Given the description of an element on the screen output the (x, y) to click on. 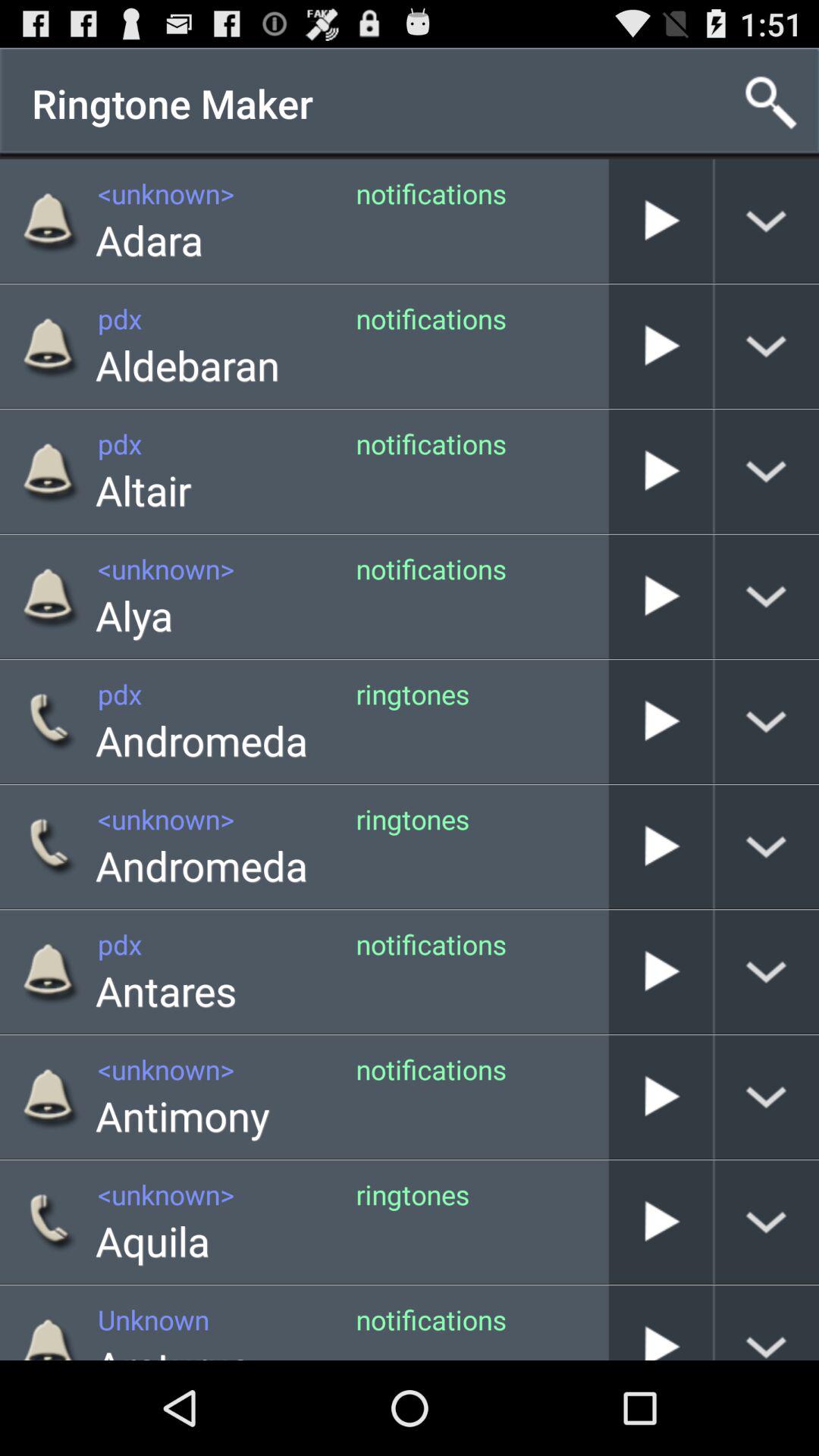
scroll to antares app (165, 990)
